Given the description of an element on the screen output the (x, y) to click on. 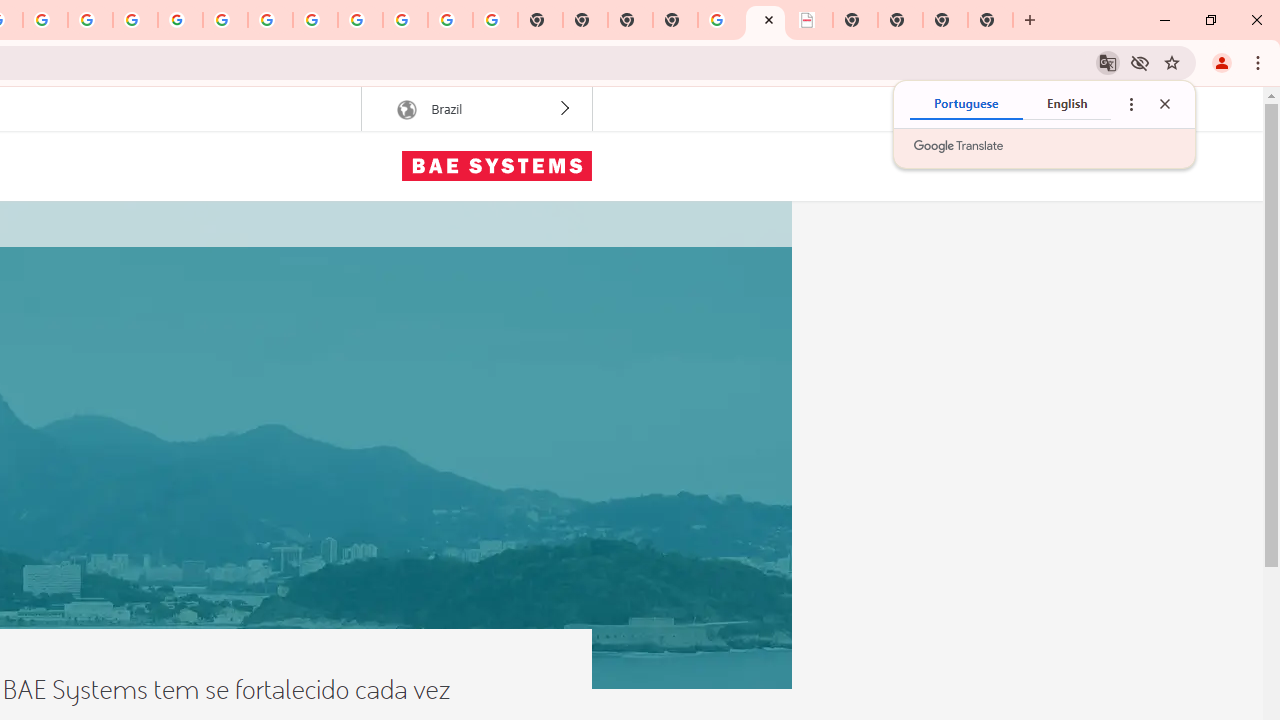
Google Images (495, 20)
